Given the description of an element on the screen output the (x, y) to click on. 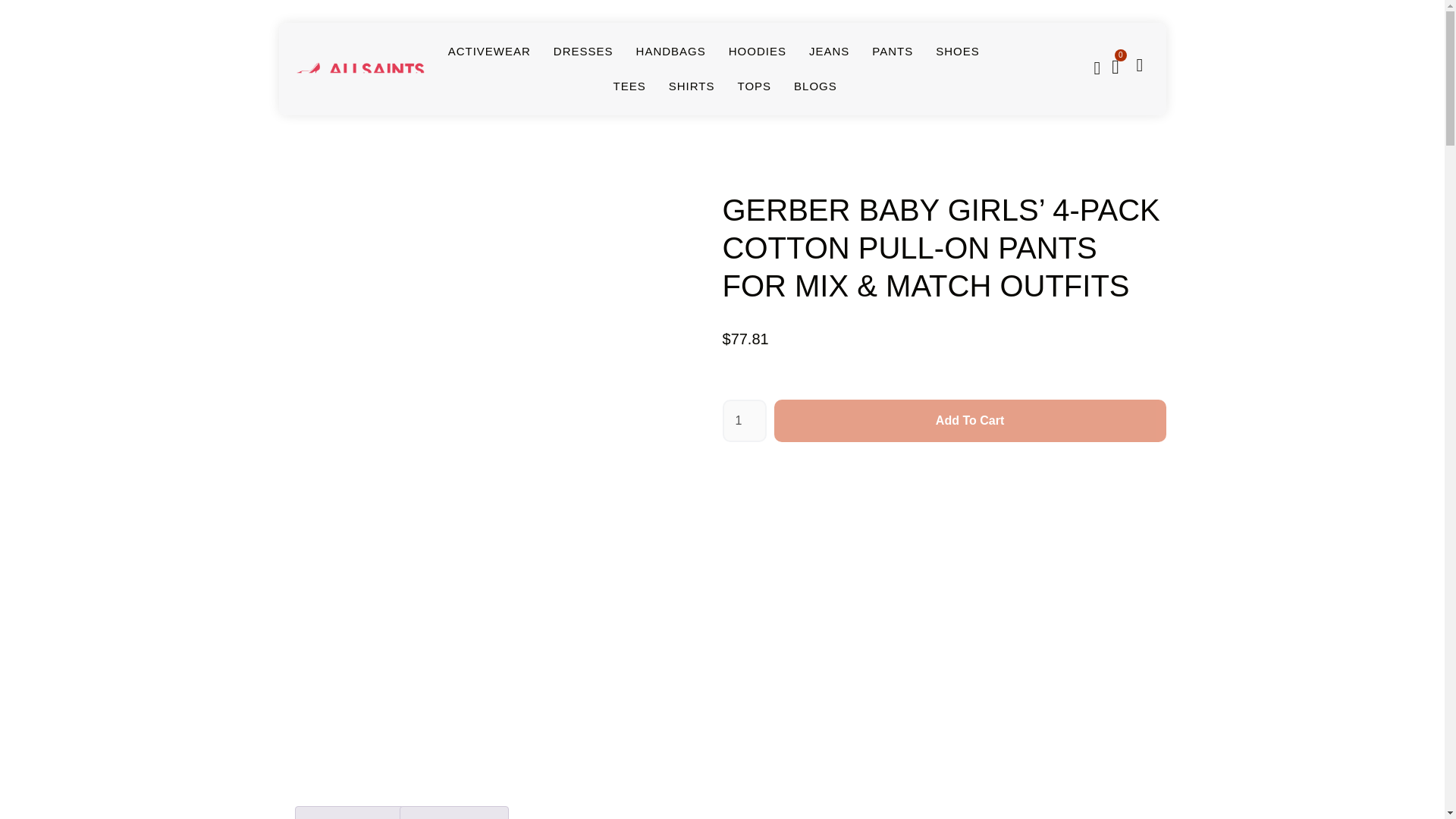
JEANS (828, 51)
Add To Cart (970, 420)
TEES (629, 86)
TOPS (753, 86)
BLOGS (815, 86)
Description (349, 812)
SHOES (957, 51)
HANDBAGS (671, 51)
SHIRTS (691, 86)
1 (743, 420)
